Given the description of an element on the screen output the (x, y) to click on. 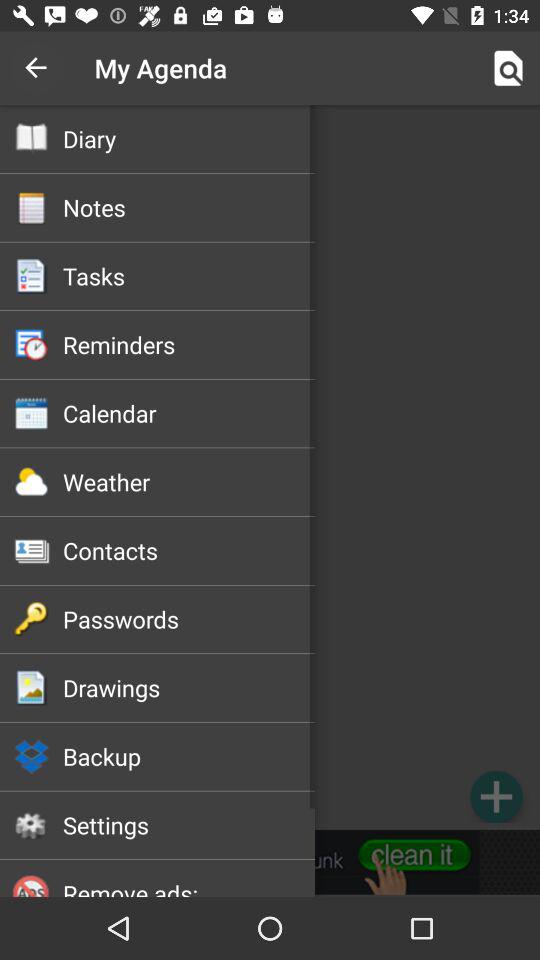
choose the reminders icon (188, 344)
